Given the description of an element on the screen output the (x, y) to click on. 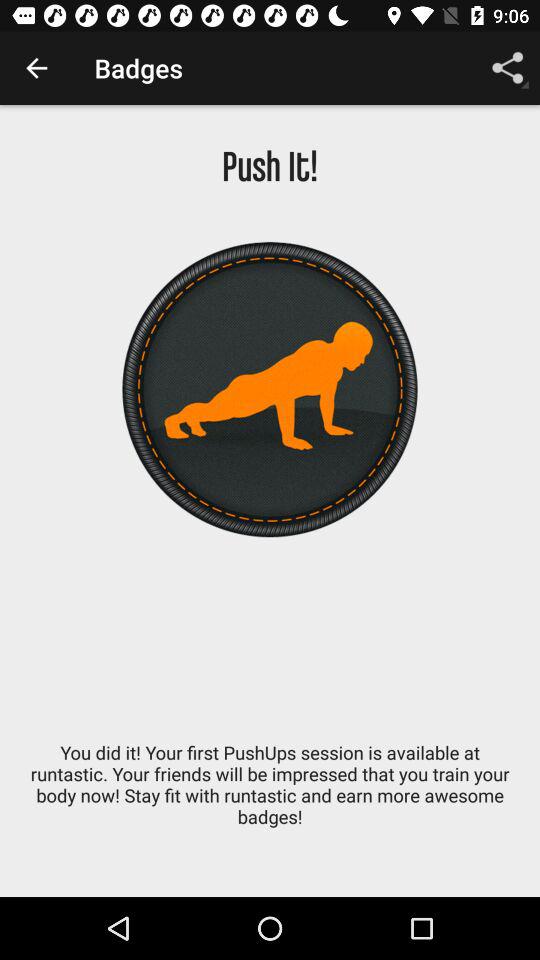
press item above push it! item (36, 68)
